Given the description of an element on the screen output the (x, y) to click on. 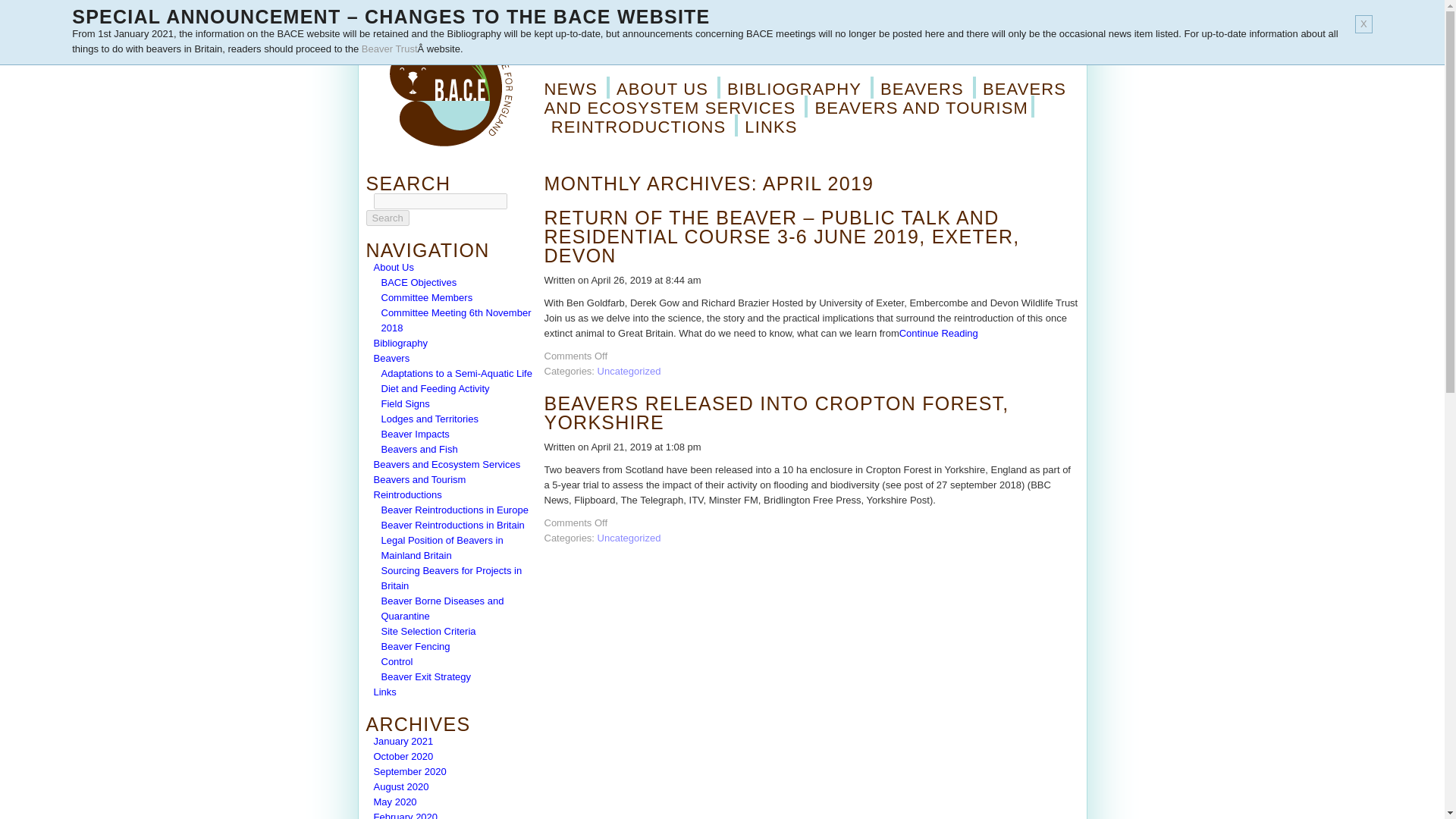
Links (384, 691)
NEWS (577, 87)
BACE Objectives (418, 282)
Uncategorized (628, 370)
Lodges and Territories (428, 419)
Uncategorized (628, 537)
Reintroductions (406, 494)
REINTRODUCTIONS (641, 126)
Search (387, 217)
Beavers and Fish (418, 449)
Beaver Reintroductions in Britain (452, 524)
About Us (392, 266)
Search (387, 217)
Field Signs (404, 403)
Committee Meeting 6th November 2018 (455, 320)
